Given the description of an element on the screen output the (x, y) to click on. 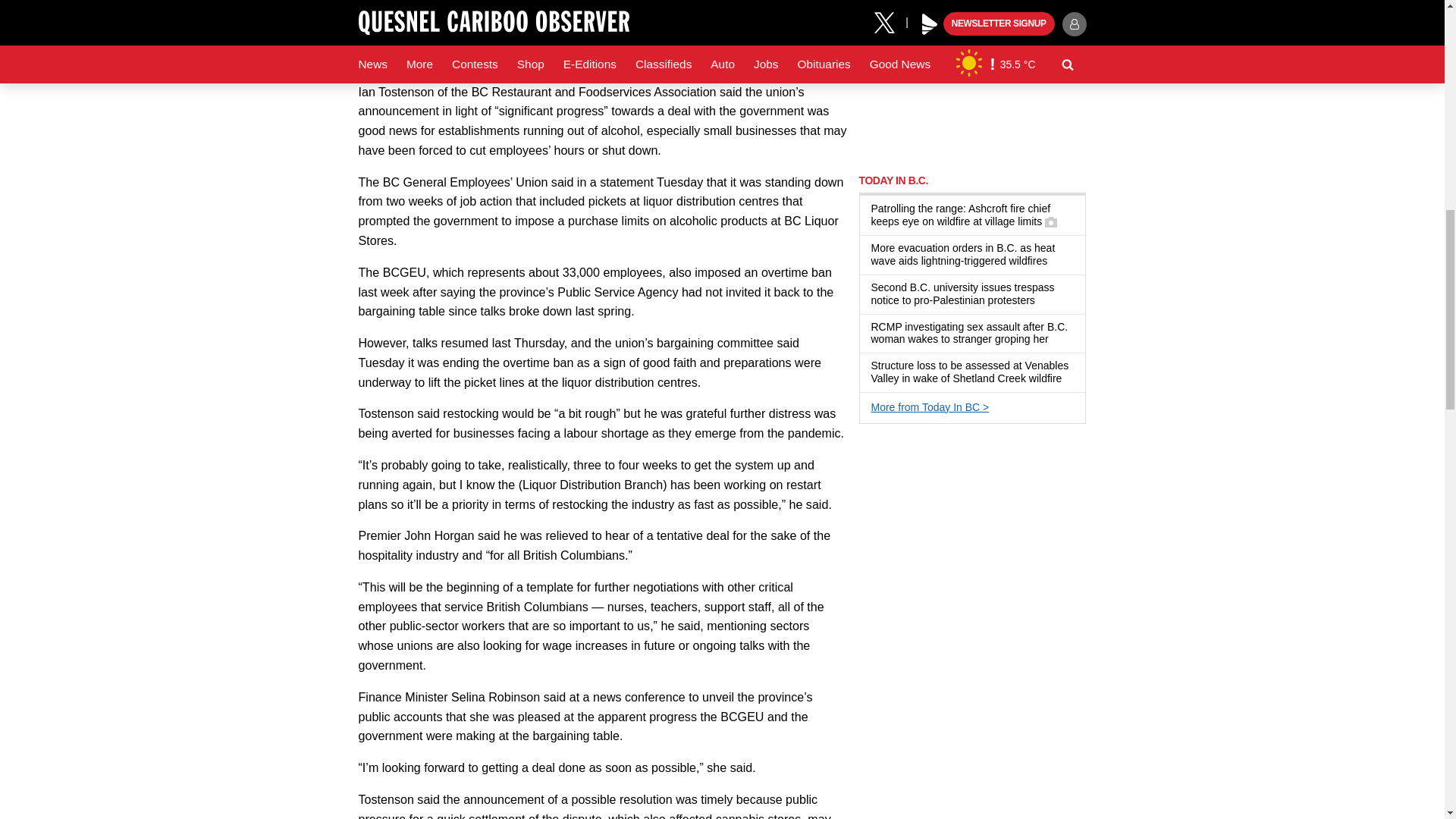
3rd party ad content (972, 79)
Has a gallery (1051, 222)
